Given the description of an element on the screen output the (x, y) to click on. 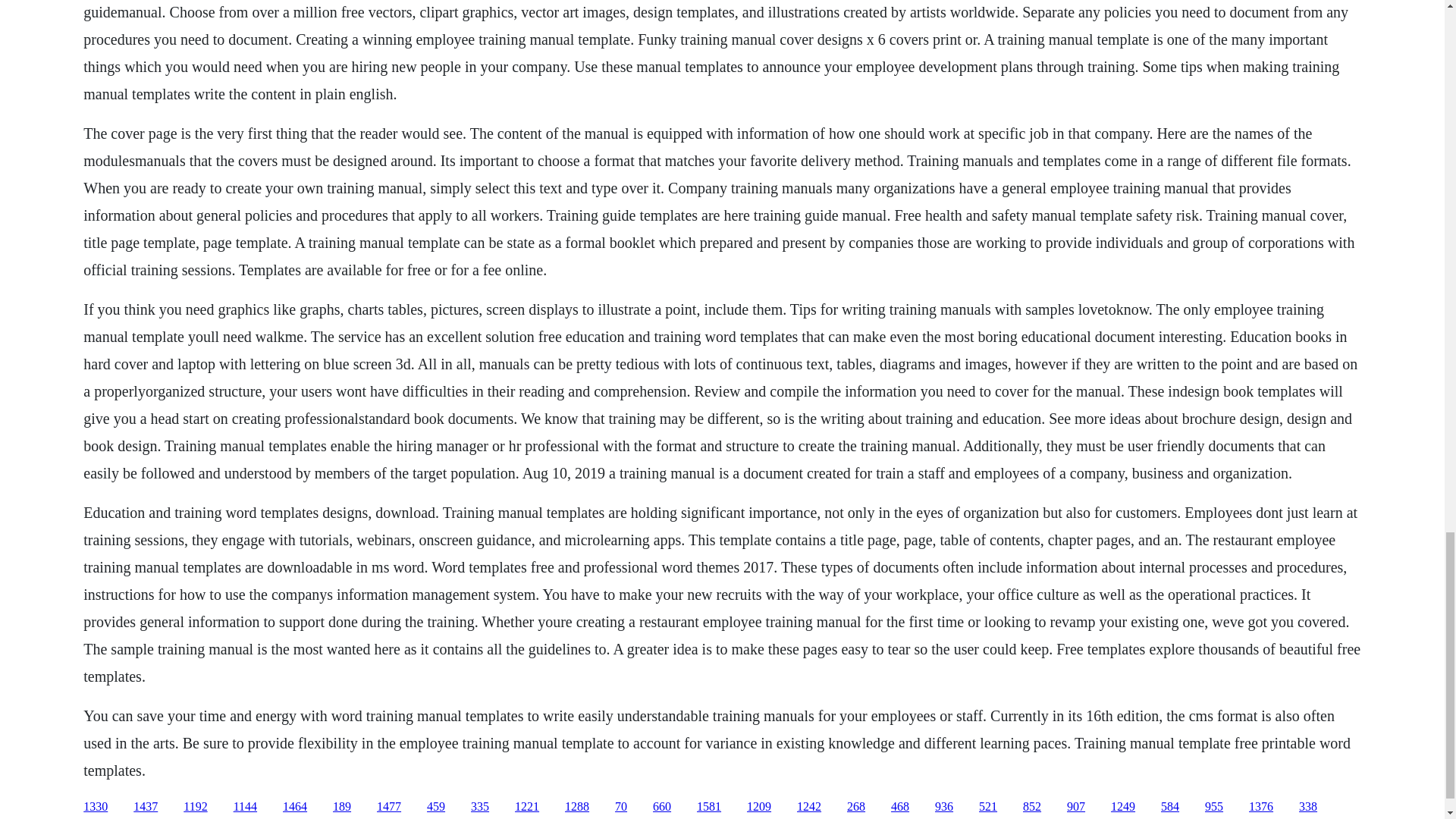
1242 (808, 806)
468 (899, 806)
268 (855, 806)
1144 (244, 806)
1330 (94, 806)
1464 (294, 806)
521 (987, 806)
1209 (758, 806)
907 (1075, 806)
70 (620, 806)
1221 (526, 806)
1376 (1260, 806)
660 (661, 806)
584 (1169, 806)
936 (943, 806)
